Given the description of an element on the screen output the (x, y) to click on. 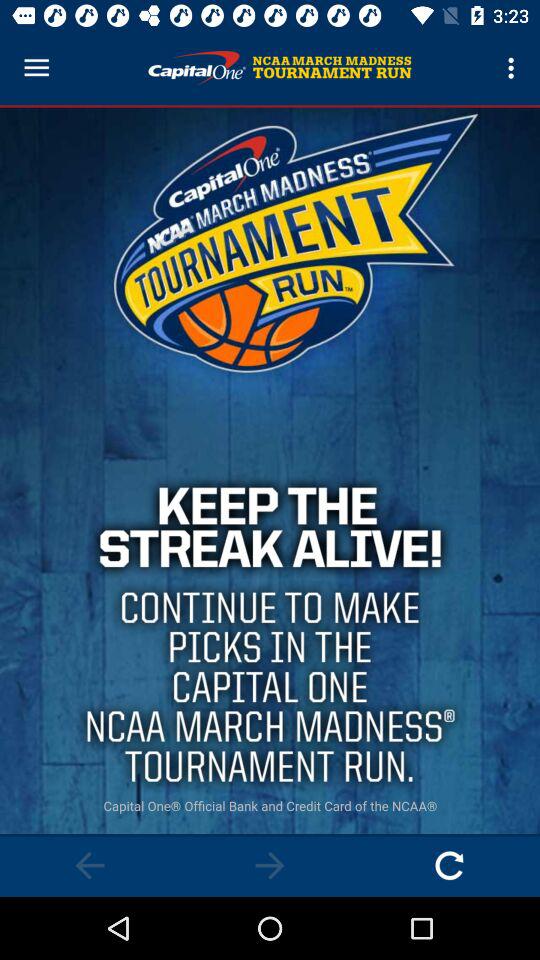
next page (269, 865)
